Given the description of an element on the screen output the (x, y) to click on. 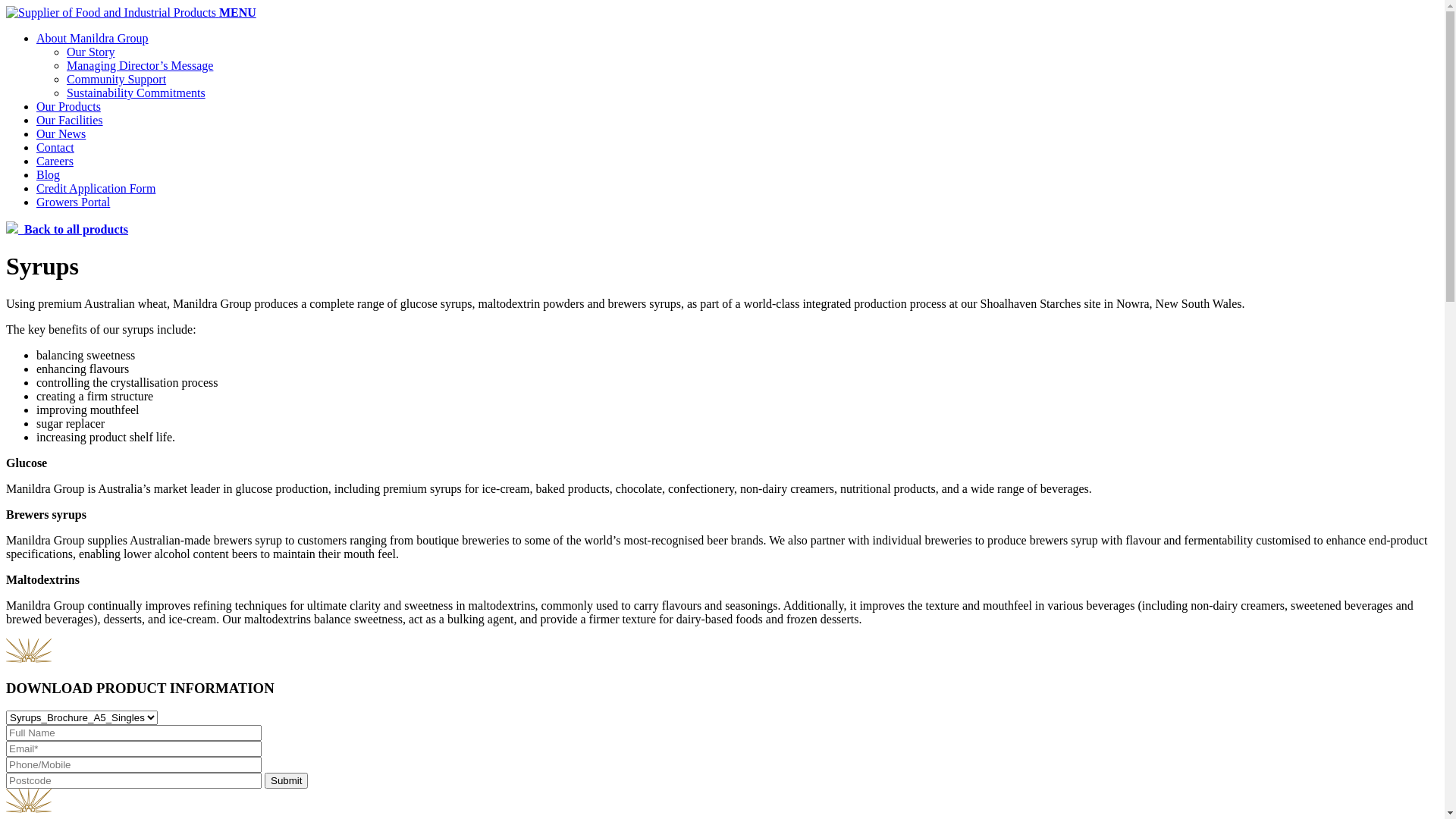
MENU Element type: text (237, 12)
Blog Element type: text (47, 174)
Community Support Element type: text (116, 78)
Sustainability Commitments Element type: text (135, 92)
Contact Element type: text (55, 147)
About Manildra Group Element type: text (92, 37)
Growers Portal Element type: text (72, 201)
Our News Element type: text (60, 133)
Submit Element type: text (285, 780)
Our Facilities Element type: text (69, 119)
 Back to all products Element type: text (67, 228)
Careers Element type: text (54, 160)
Credit Application Form Element type: text (95, 188)
Our Story Element type: text (90, 51)
Our Products Element type: text (68, 106)
